Given the description of an element on the screen output the (x, y) to click on. 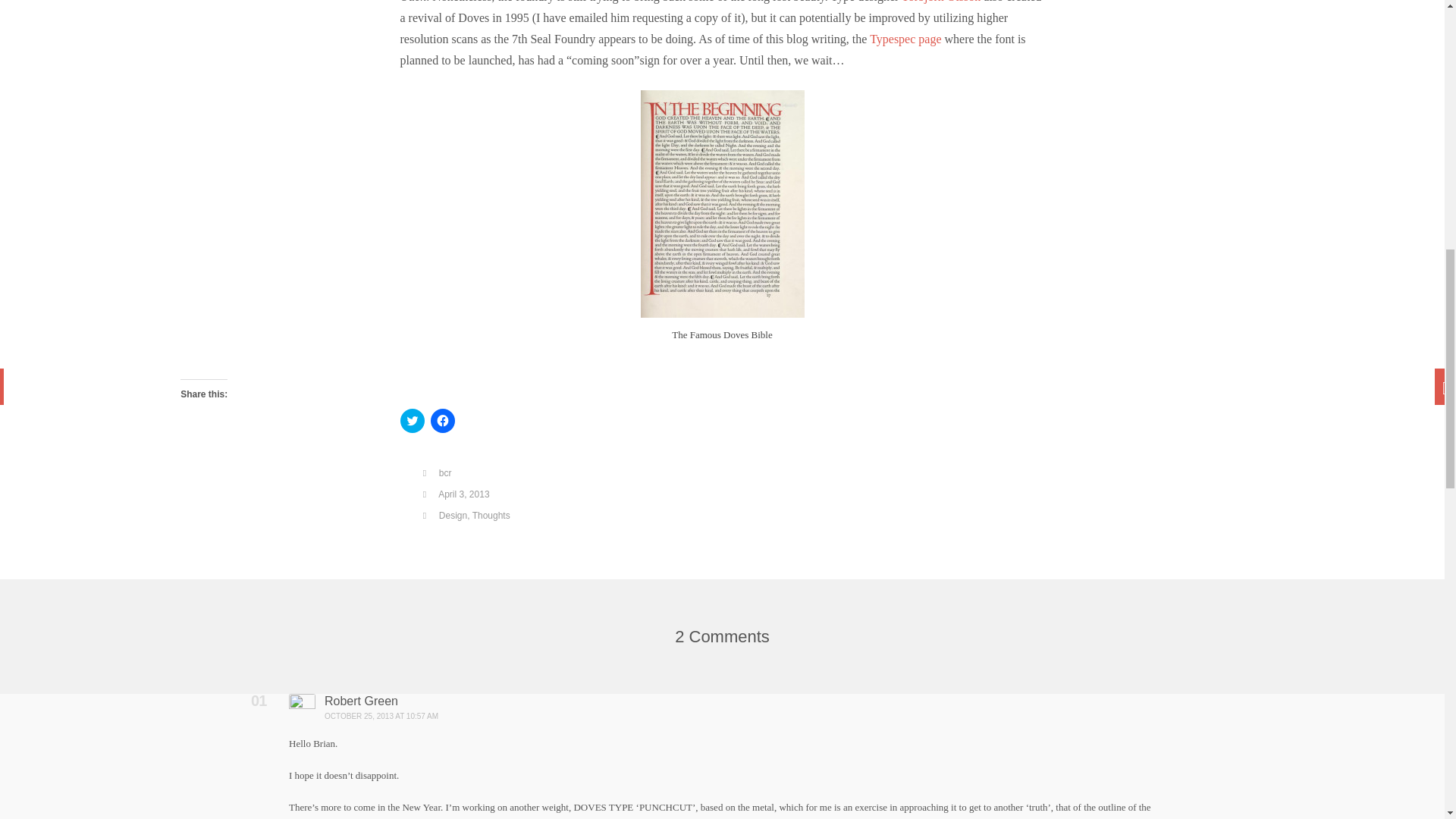
Thoughts (491, 515)
Design (453, 515)
Typespec page (904, 38)
Posts by bcr (445, 472)
bcr (445, 472)
Click to share on Twitter (412, 420)
Click to share on Facebook (442, 420)
OCTOBER 25, 2013 AT 10:57 AM (381, 715)
